Given the description of an element on the screen output the (x, y) to click on. 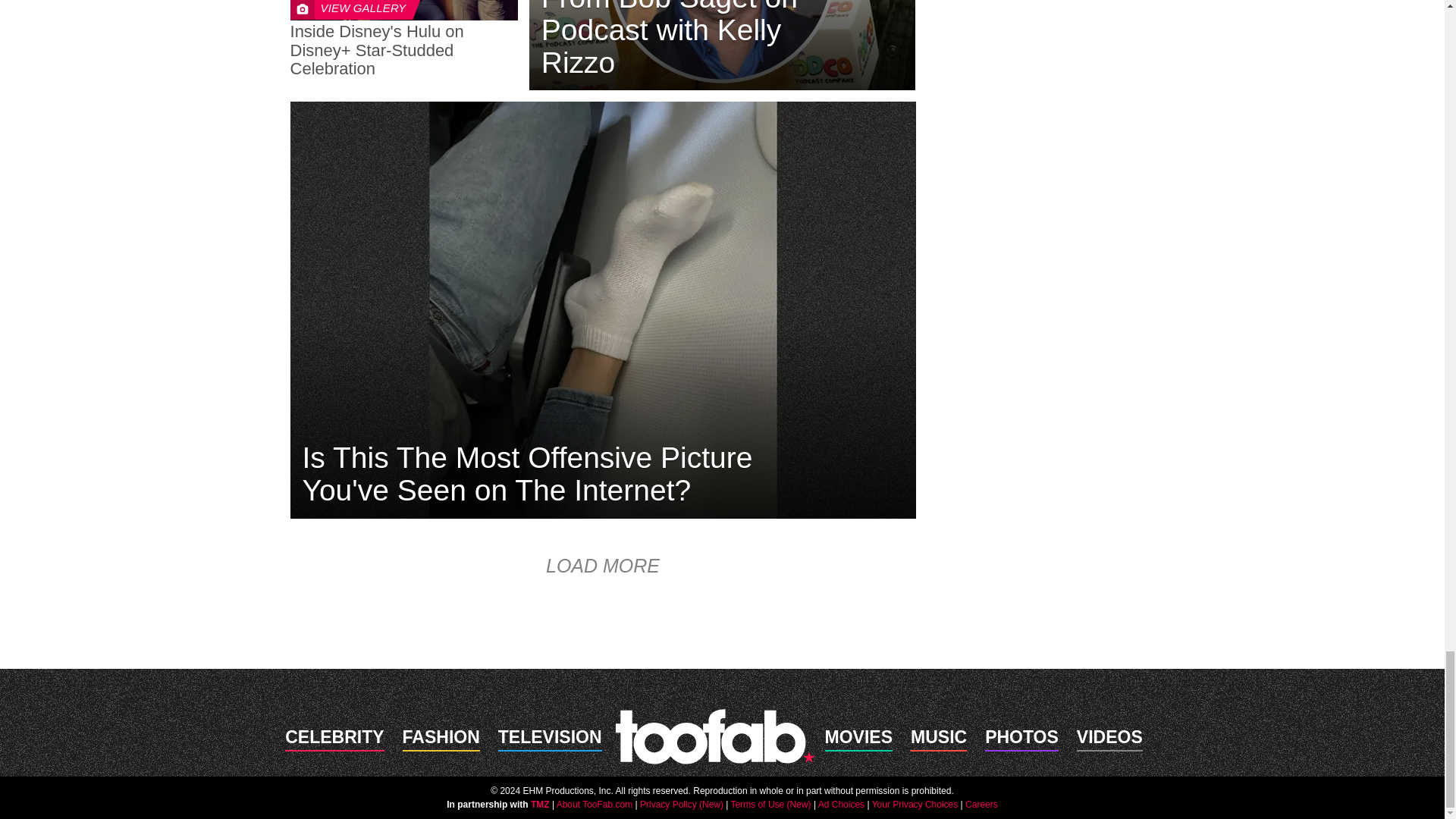
toofab (714, 736)
